Given the description of an element on the screen output the (x, y) to click on. 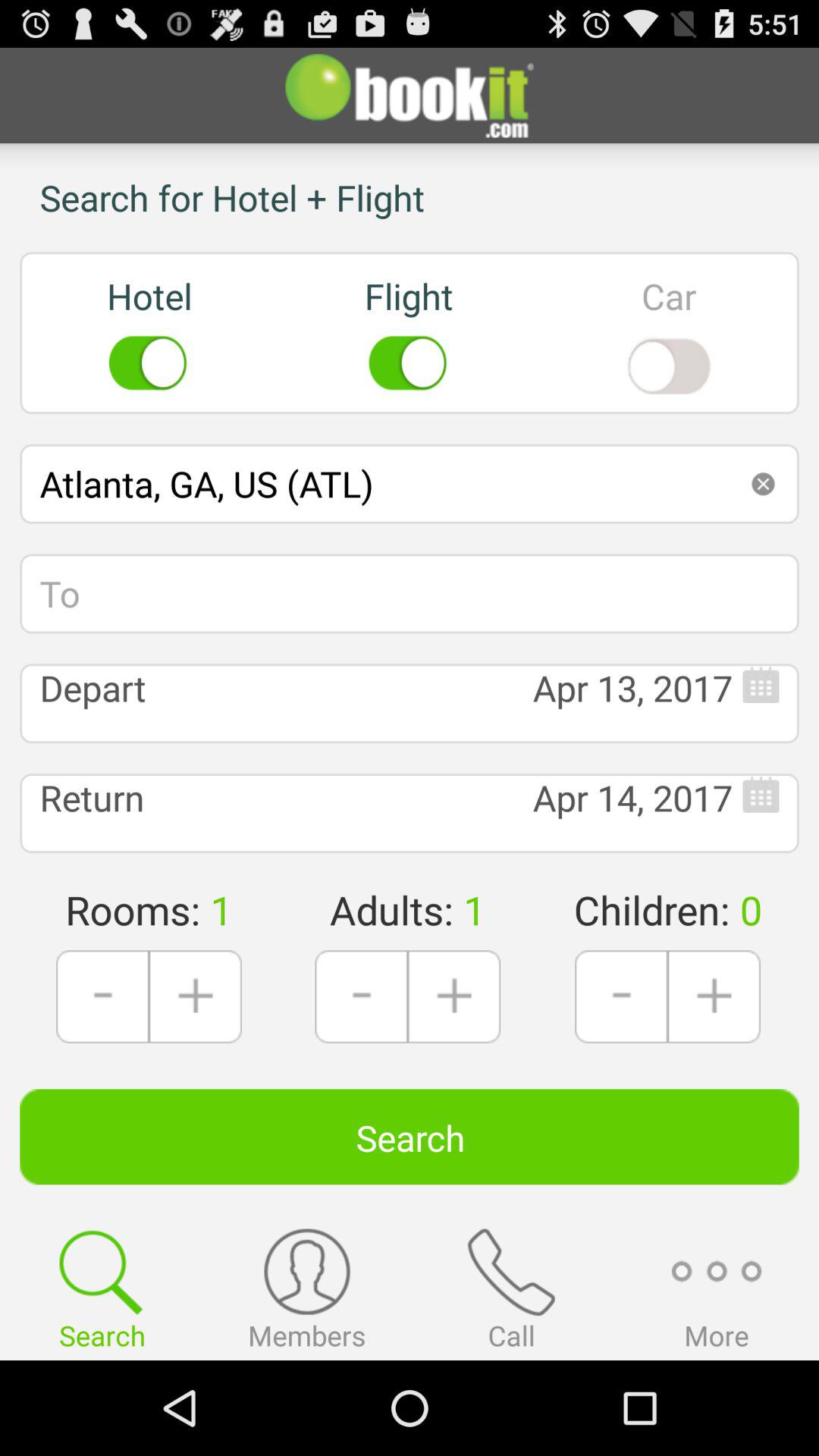
choose the icon above search for hotel app (409, 95)
